Given the description of an element on the screen output the (x, y) to click on. 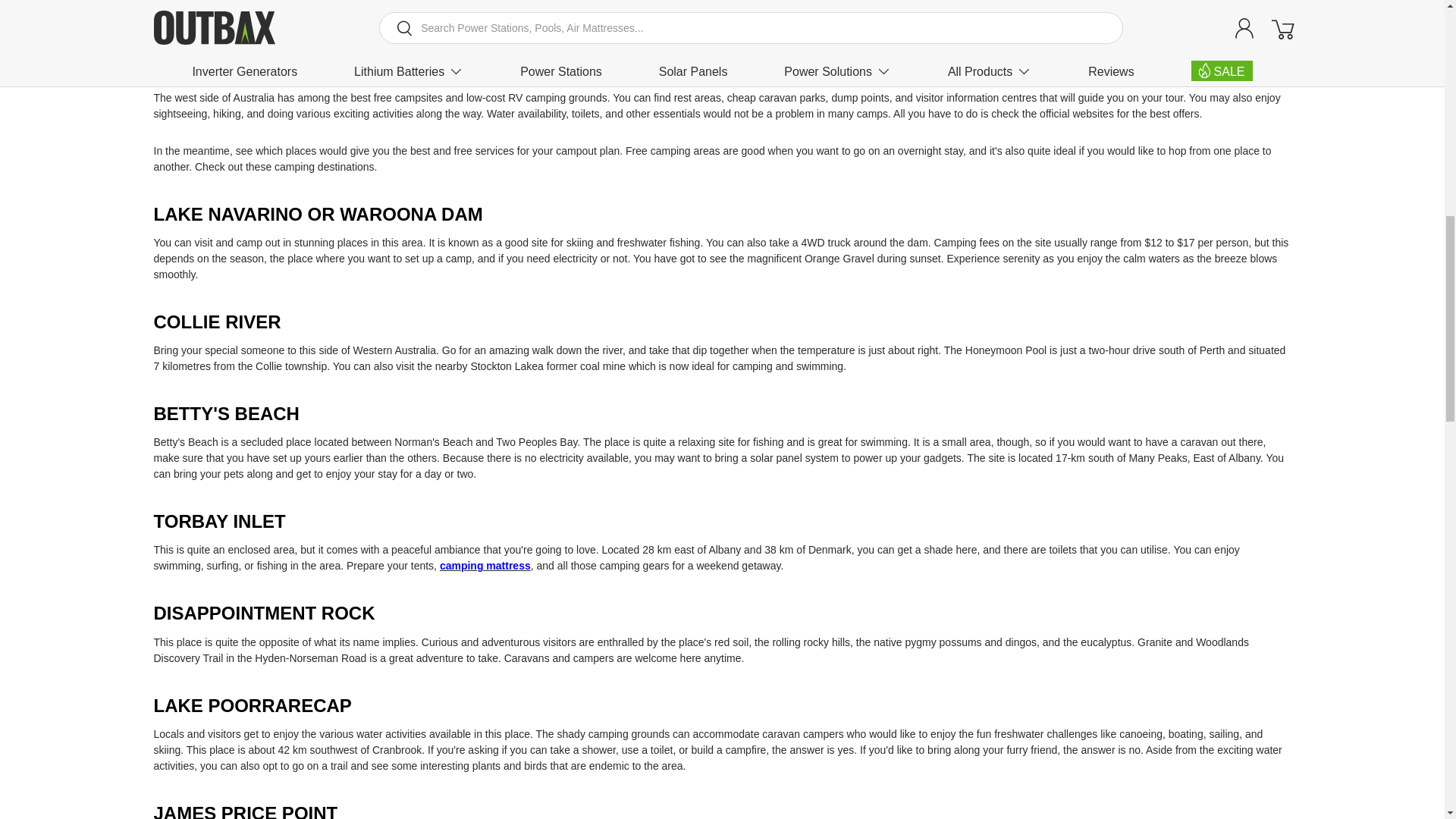
Top 10 Bushwalking and Camping Spots in Australia (278, 44)
